Given the description of an element on the screen output the (x, y) to click on. 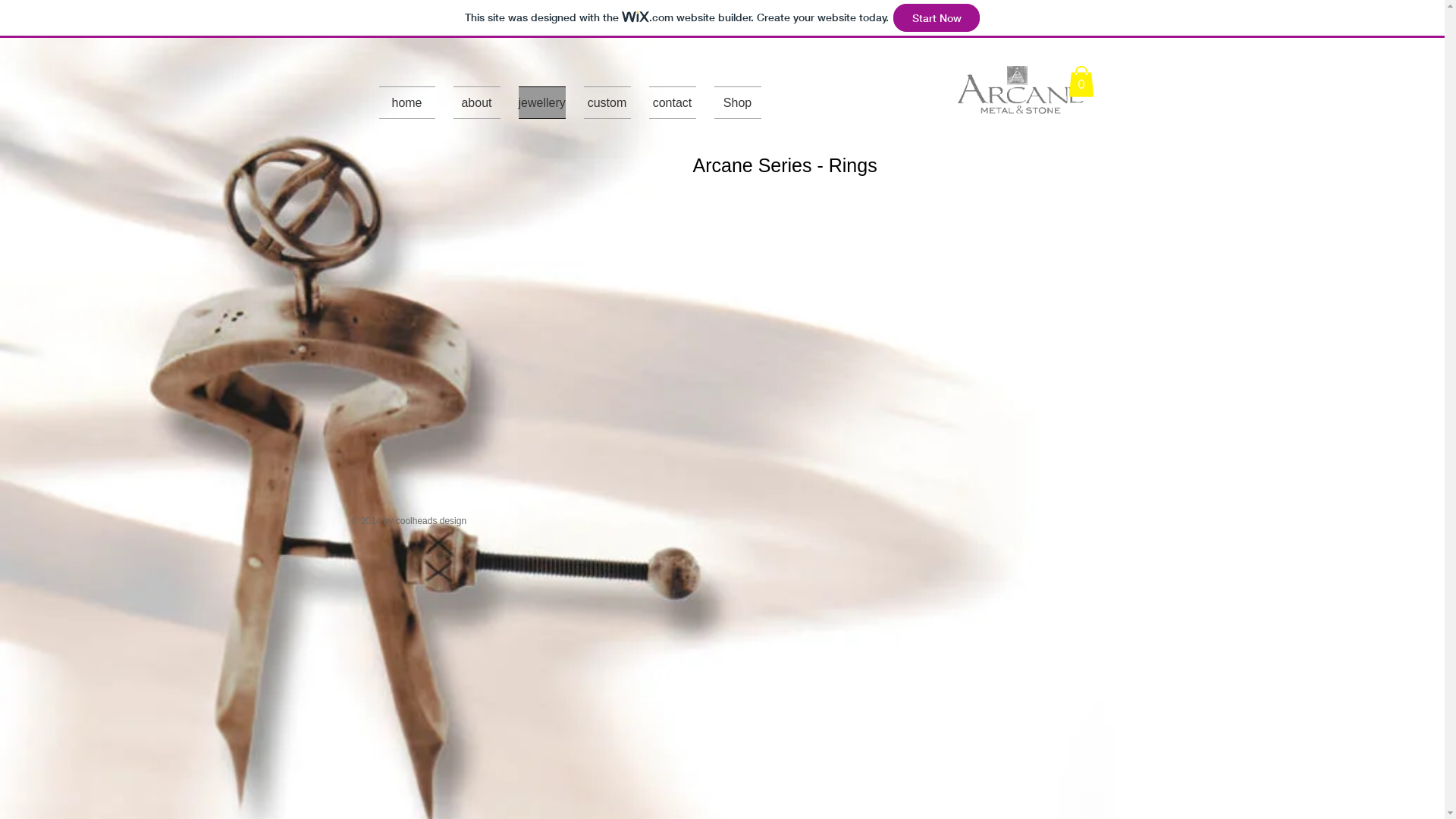
0 Element type: text (1080, 81)
jewellery Element type: text (541, 102)
custom Element type: text (607, 102)
about Element type: text (476, 102)
contact Element type: text (672, 102)
Shop Element type: text (737, 102)
home Element type: text (411, 102)
